Given the description of an element on the screen output the (x, y) to click on. 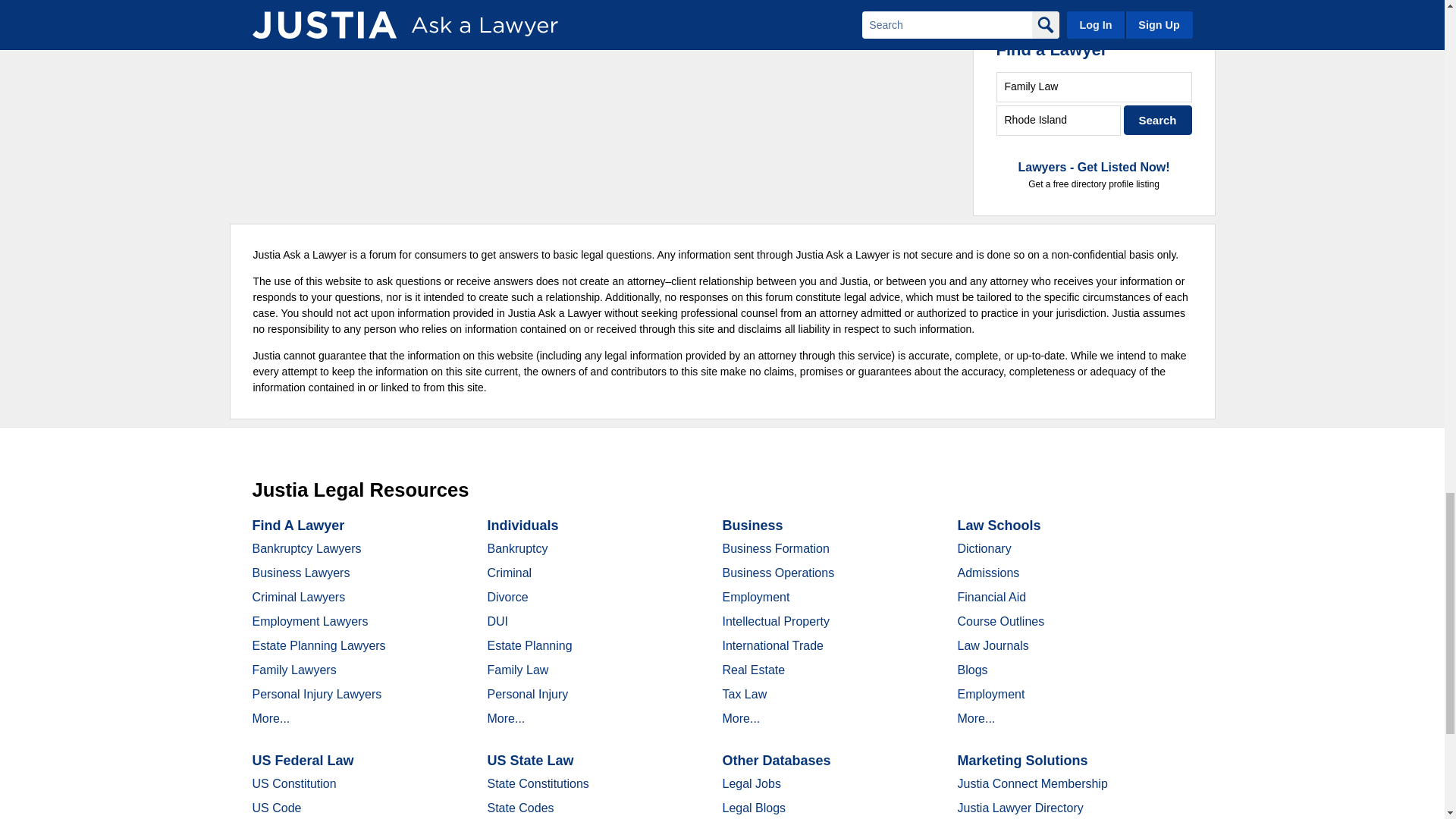
Search (1158, 120)
Family Law (1093, 86)
Legal Issue or Lawyer Name (1093, 86)
City, State (1058, 120)
Rhode Island (1058, 120)
Search (1158, 120)
